Given the description of an element on the screen output the (x, y) to click on. 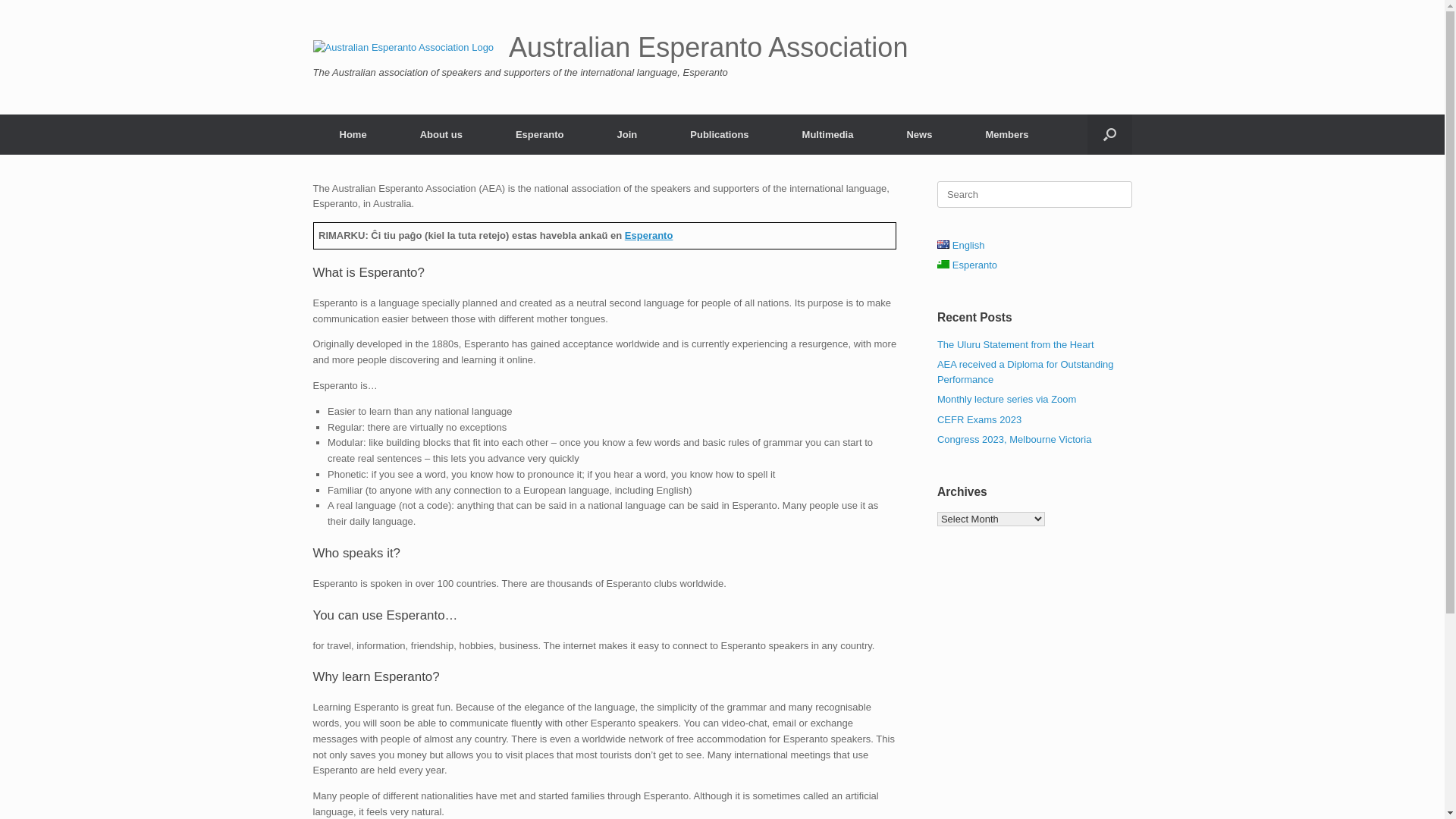
Congress 2023, Melbourne Victoria Element type: text (1014, 439)
News Element type: text (918, 133)
Members Element type: text (1006, 133)
Publications Element type: text (719, 133)
Esperanto Element type: text (648, 235)
Multimedia Element type: text (827, 133)
Join Element type: text (627, 133)
CEFR Exams 2023 Element type: text (979, 419)
English Element type: text (961, 245)
Esperanto Element type: text (967, 264)
The Uluru Statement from the Heart Element type: text (1015, 344)
Home Element type: text (352, 133)
About us Element type: text (441, 133)
Australian Esperanto Association Element type: text (609, 47)
Monthly lecture series via Zoom Element type: text (1006, 398)
Esperanto Element type: text (539, 133)
AEA received a Diploma for Outstanding Performance Element type: text (1025, 371)
